Given the description of an element on the screen output the (x, y) to click on. 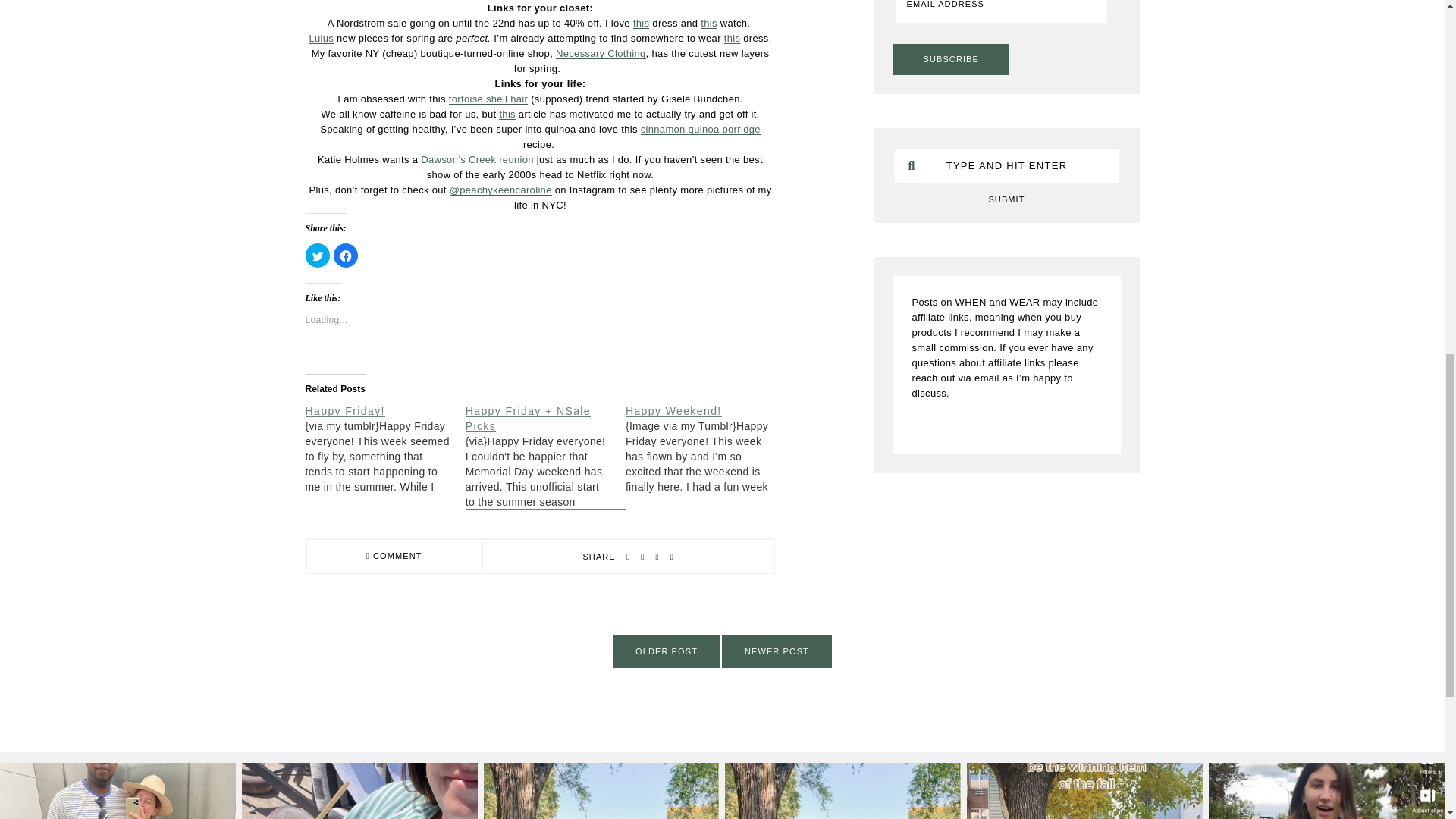
Click to share on Facebook (345, 255)
this (708, 22)
tortoise shell hair (487, 98)
Happy Weekend! (706, 448)
Necessary Clothing (601, 52)
Happy Friday! (344, 410)
Happy Friday! (384, 448)
this (732, 38)
this (507, 113)
Happy Weekend! (674, 410)
